Given the description of an element on the screen output the (x, y) to click on. 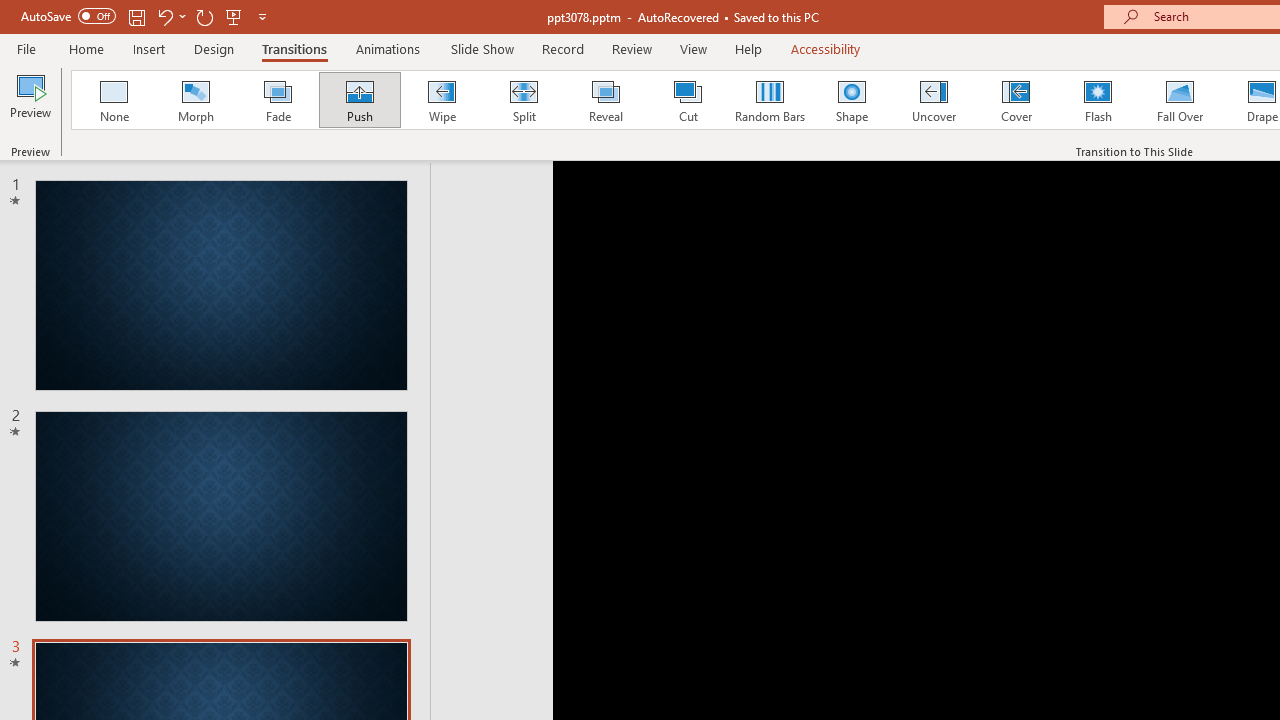
Split (523, 100)
Random Bars (770, 100)
None (113, 100)
Push (359, 100)
Fade (277, 100)
Uncover (934, 100)
Flash (1098, 100)
Cover (1016, 100)
